Given the description of an element on the screen output the (x, y) to click on. 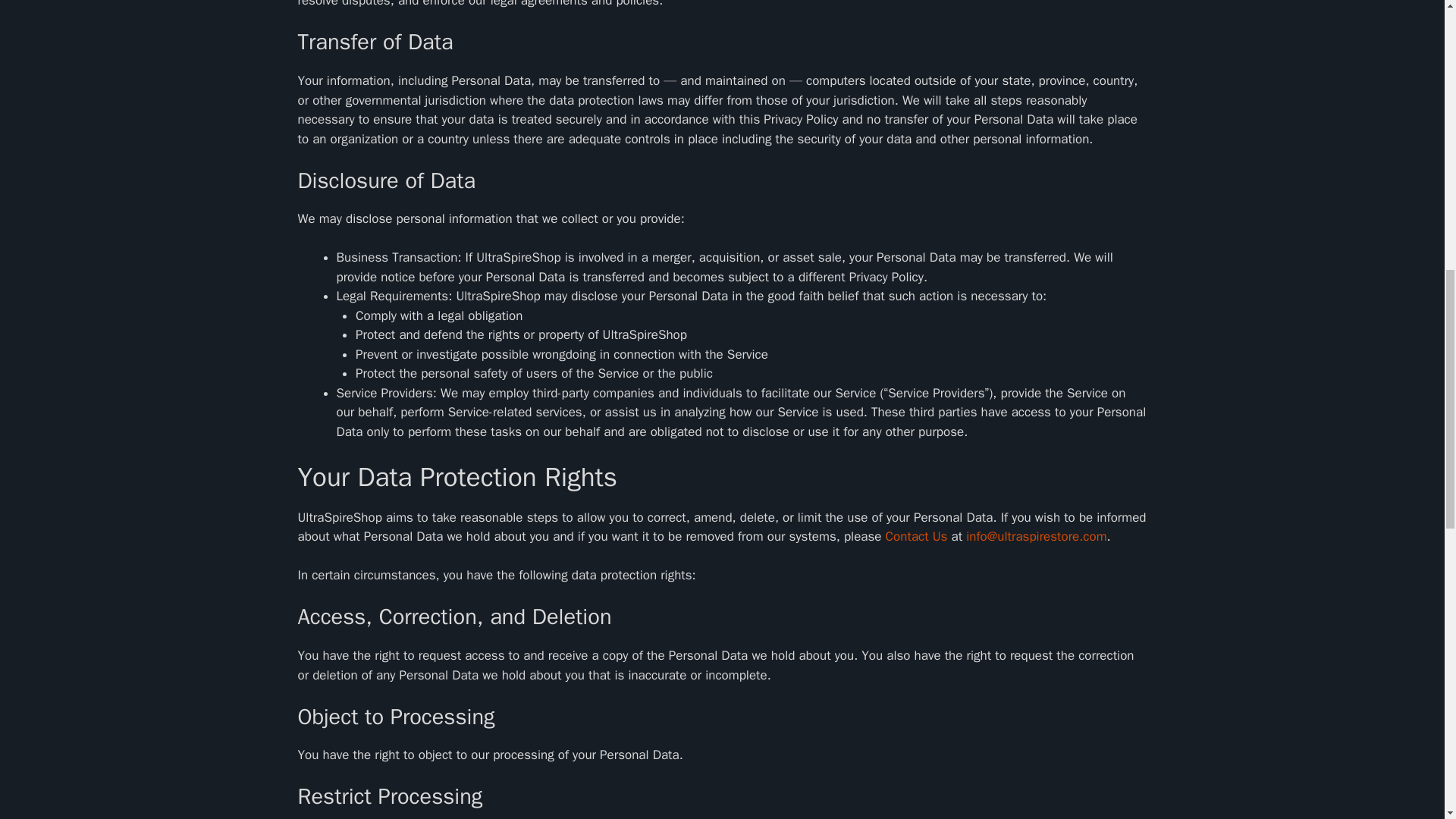
Contact Us (916, 536)
Contact Us (916, 536)
